Given the description of an element on the screen output the (x, y) to click on. 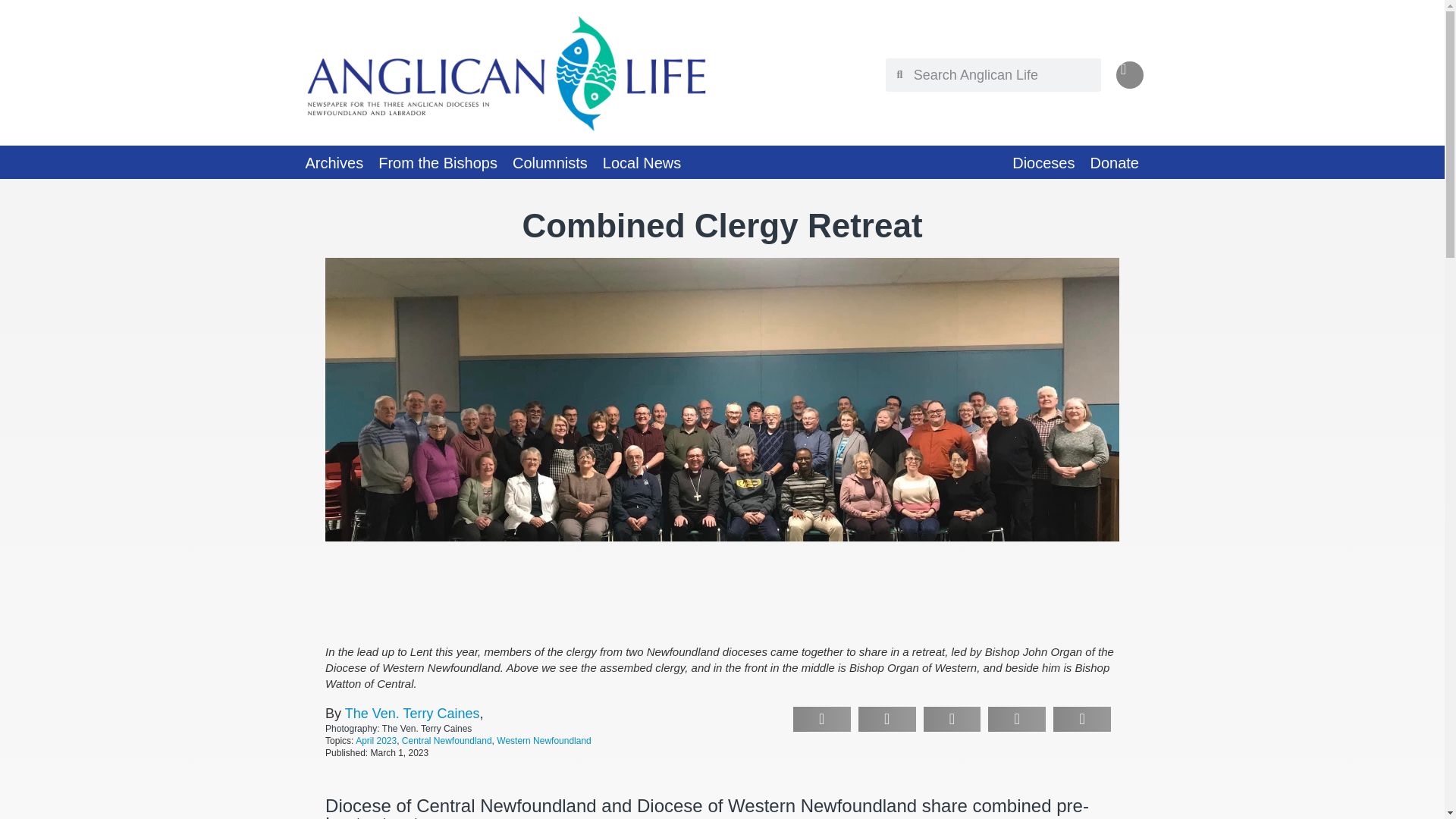
The Ven. Terry Caines (412, 713)
Local News (641, 162)
Columnists (550, 162)
Archives (334, 162)
From the Bishops (438, 162)
